Given the description of an element on the screen output the (x, y) to click on. 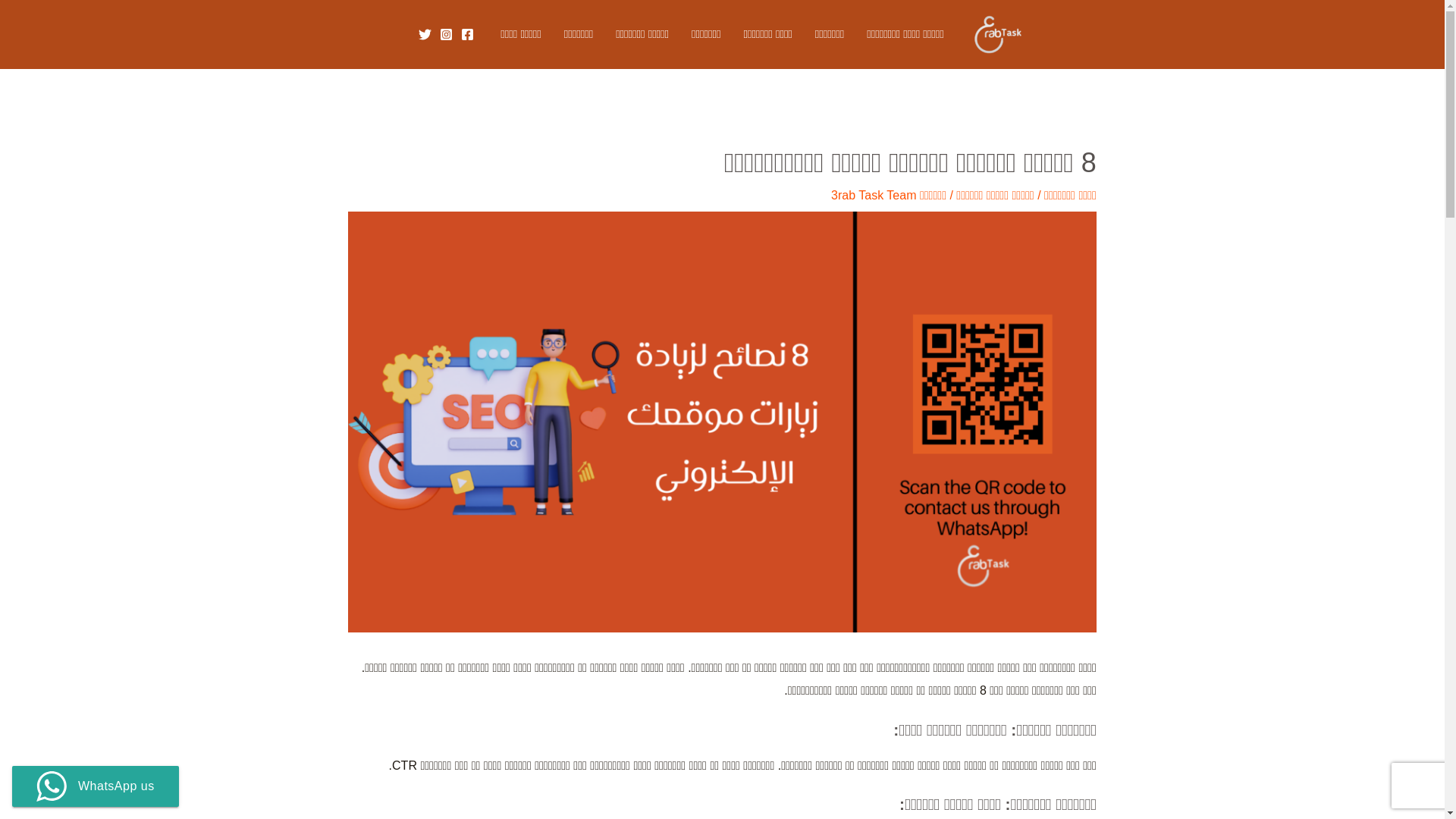
3rab Task Team Element type: text (873, 194)
